Given the description of an element on the screen output the (x, y) to click on. 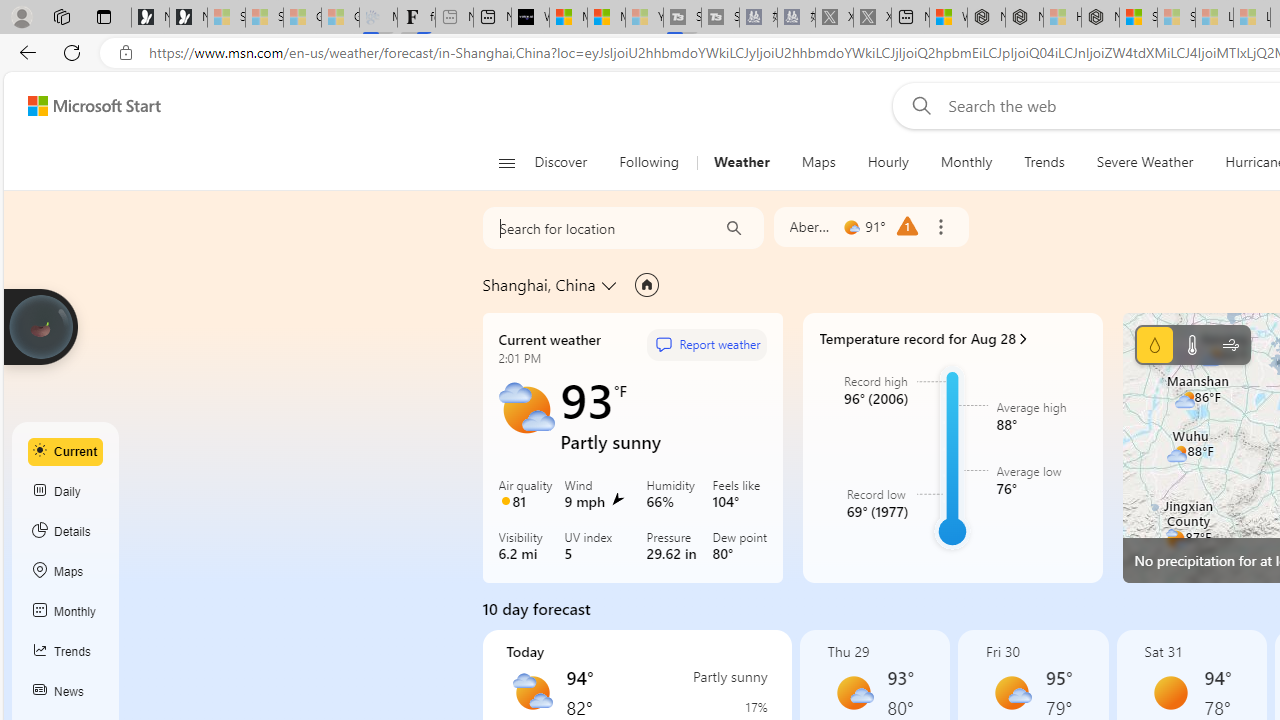
Temperature (1191, 344)
Partly sunny (532, 692)
Hourly (887, 162)
Report weather (706, 344)
Humidity 66% (675, 495)
Mostly sunny (1011, 692)
Monthly (65, 611)
